Given the description of an element on the screen output the (x, y) to click on. 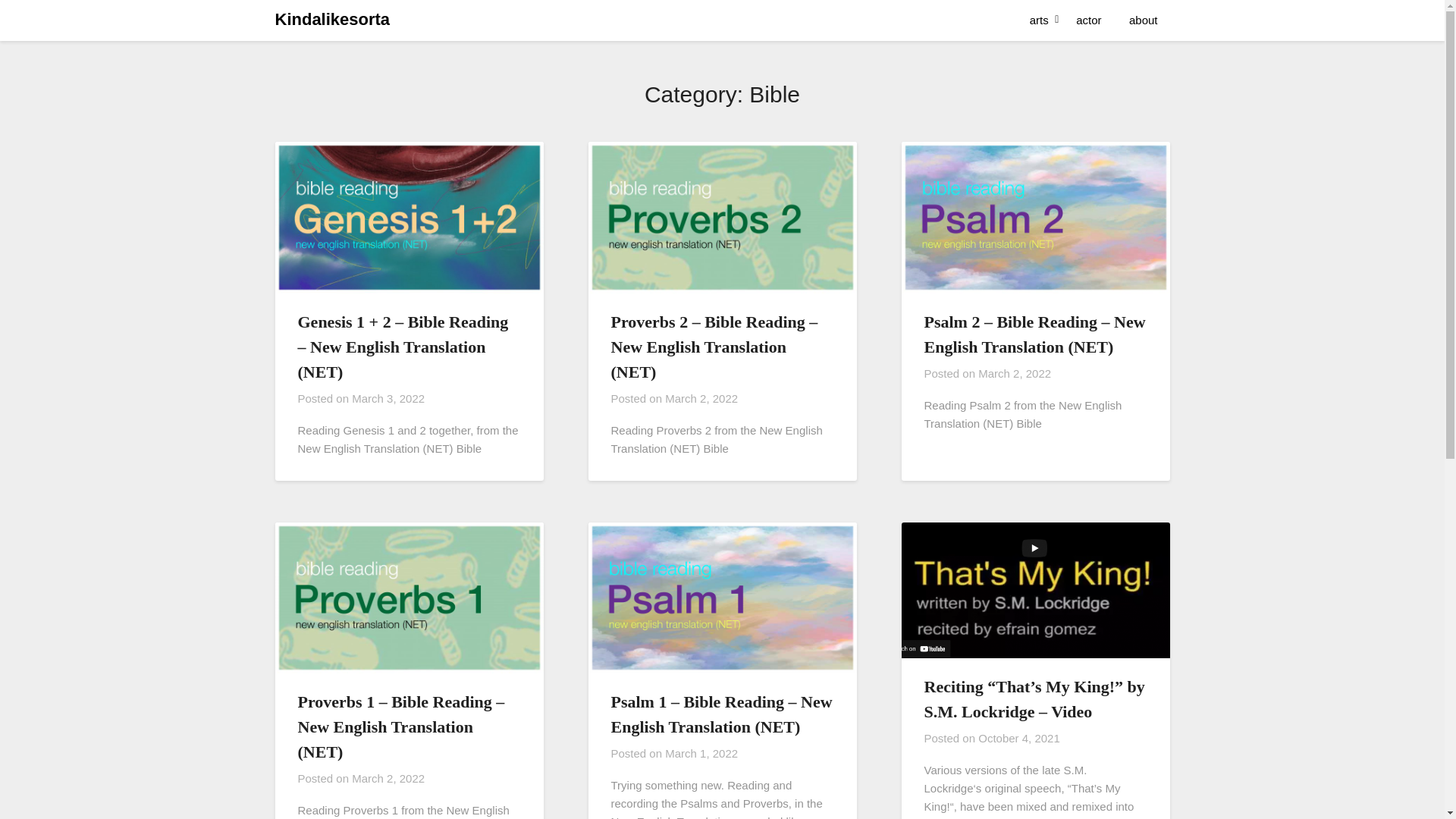
March 2, 2022 (701, 397)
March 2, 2022 (388, 778)
about (1143, 20)
October 4, 2021 (1018, 738)
actor (1088, 20)
March 3, 2022 (388, 397)
March 2, 2022 (1014, 373)
March 1, 2022 (701, 753)
Kindalikesorta (332, 19)
arts (1039, 20)
